Given the description of an element on the screen output the (x, y) to click on. 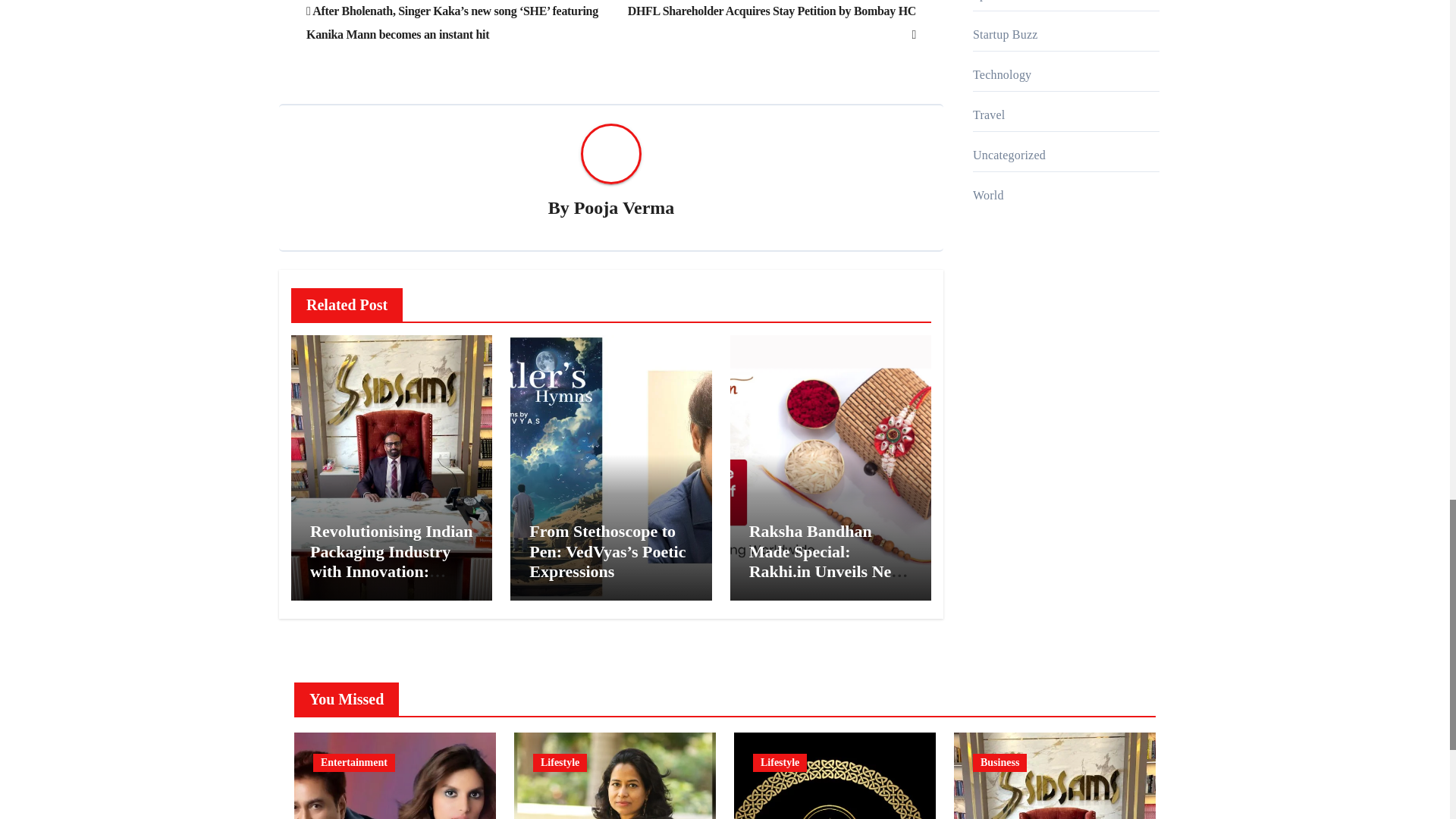
Pooja Verma (624, 207)
DHFL Shareholder Acquires Stay Petition by Bombay HC (771, 22)
